Given the description of an element on the screen output the (x, y) to click on. 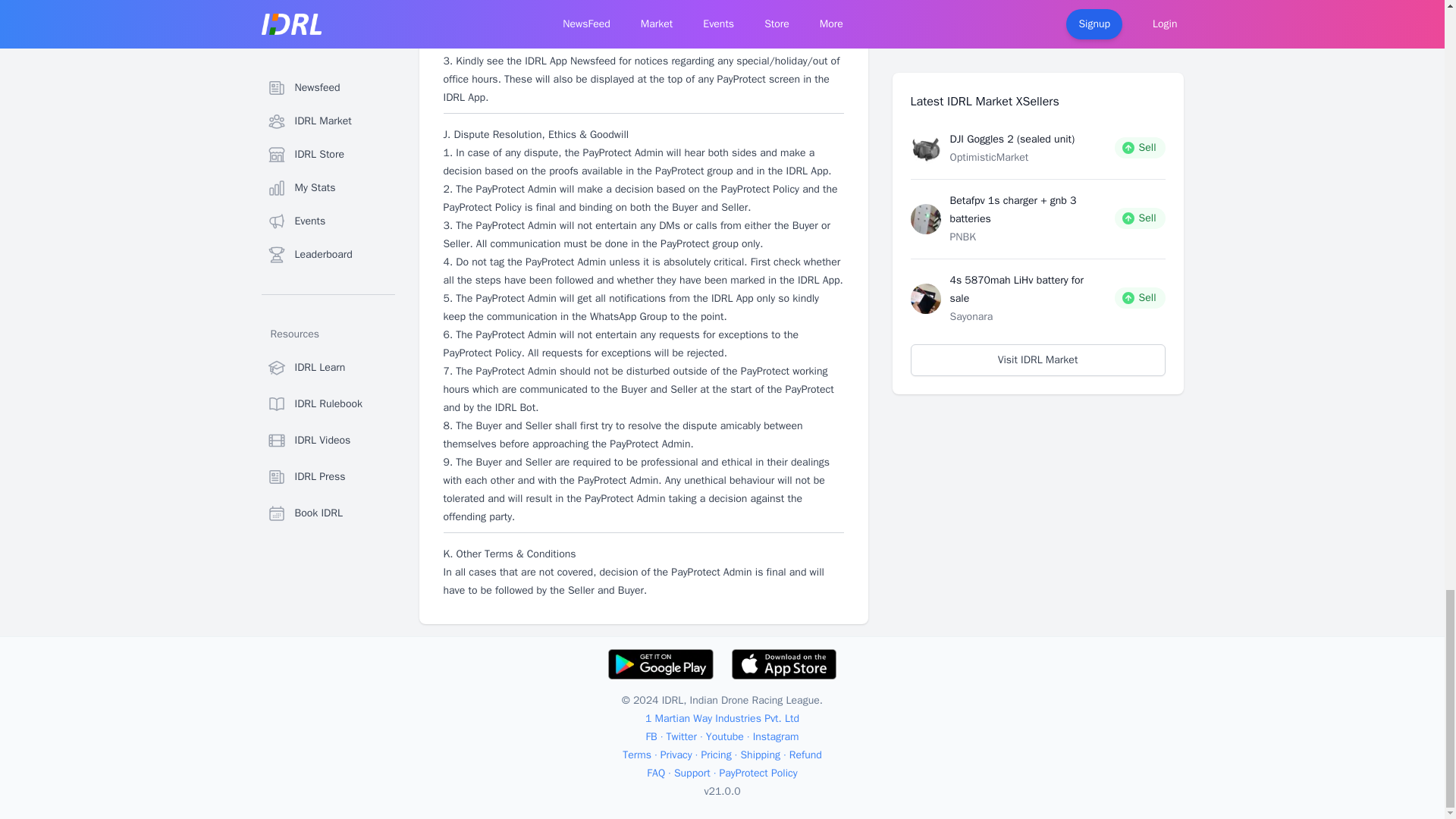
Terms (636, 755)
Instagram (775, 737)
Privacy (677, 755)
Twitter (681, 737)
Youtube (725, 737)
1 Martian Way Industries Pvt. Ltd (722, 719)
